Given the description of an element on the screen output the (x, y) to click on. 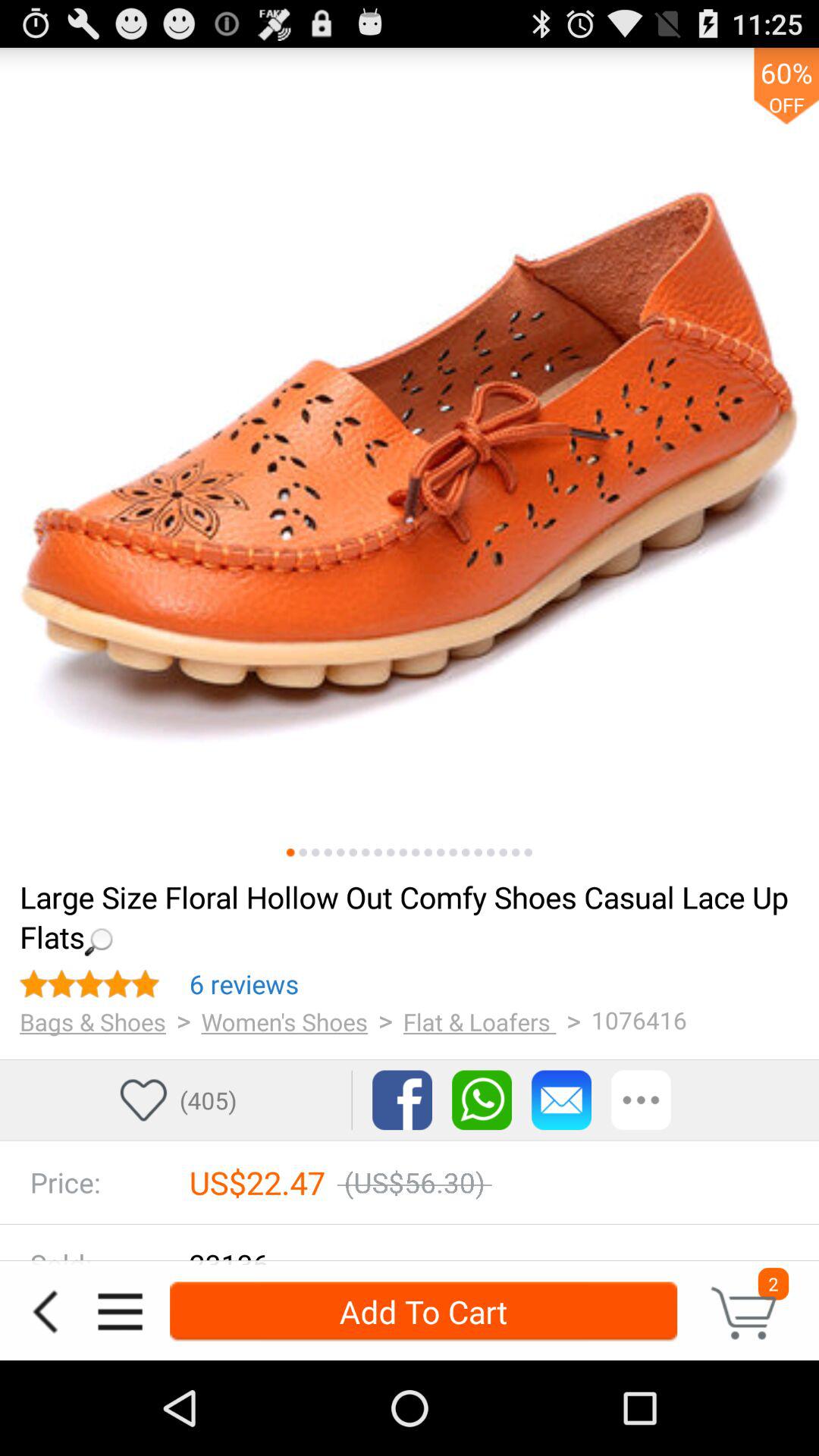
choose image to view (465, 852)
